Given the description of an element on the screen output the (x, y) to click on. 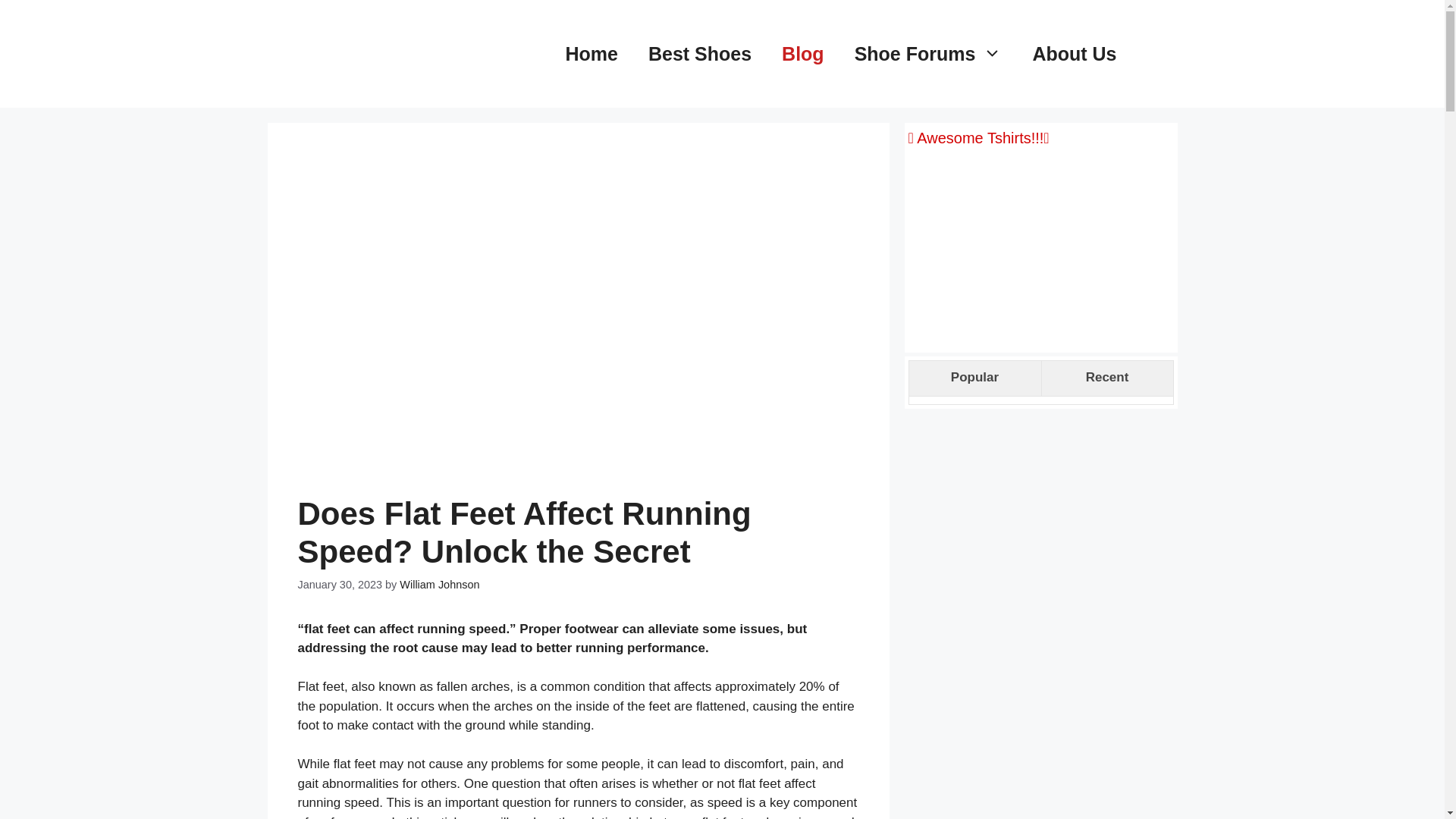
About Us (1073, 53)
View all posts by William Johnson (438, 584)
Home (590, 53)
William Johnson (438, 584)
Shoe Forums (928, 53)
Blog (803, 53)
Best Shoes (700, 53)
